Given the description of an element on the screen output the (x, y) to click on. 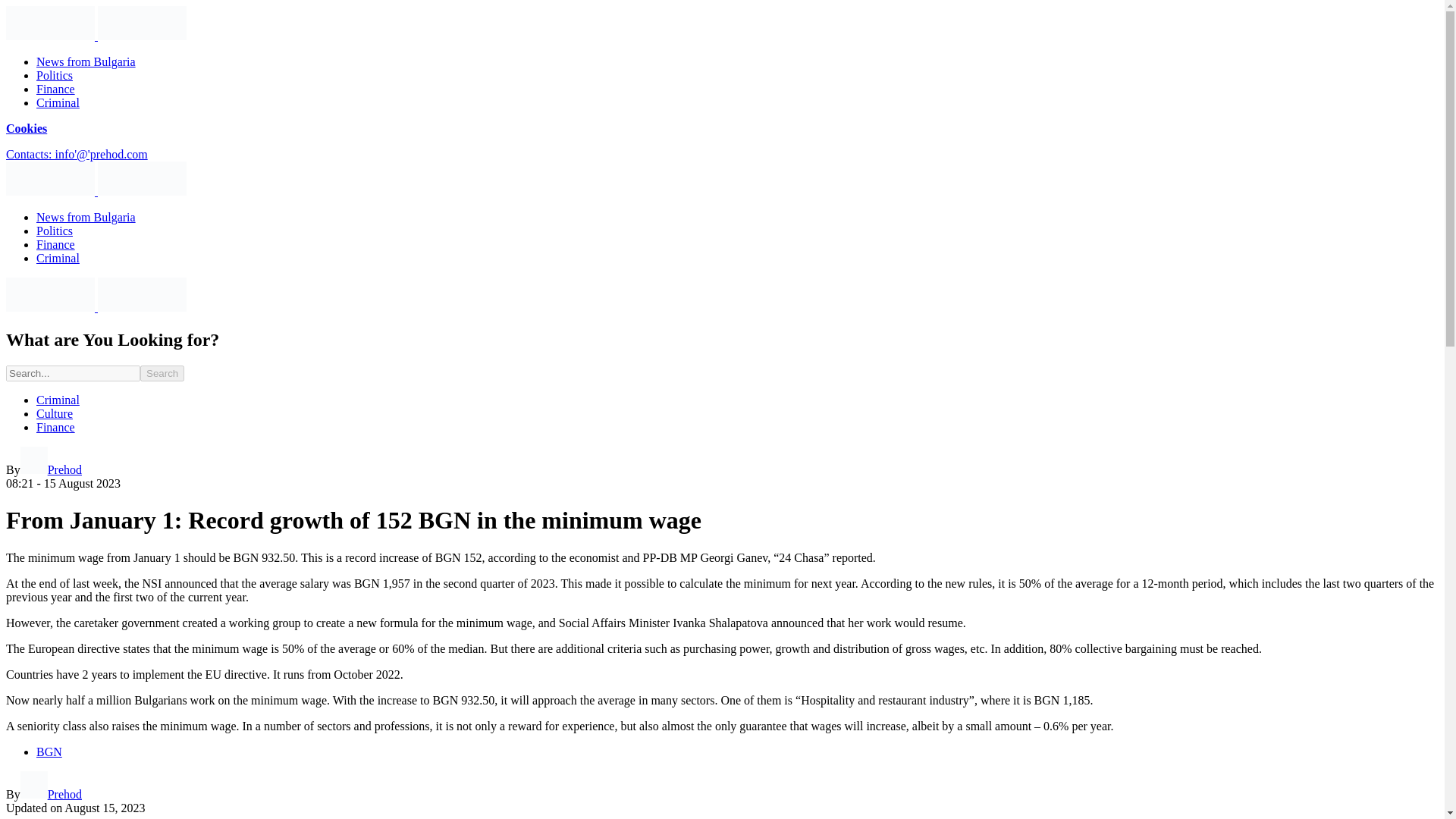
Criminal (58, 102)
Criminal (58, 399)
Cookies (25, 128)
Finance (55, 427)
Search (161, 373)
Culture (54, 413)
News from Bulgaria (85, 216)
BGN (49, 751)
Prehod (50, 469)
Finance (55, 88)
Prehod (50, 793)
Politics (54, 230)
Finance (55, 244)
Criminal (58, 257)
News from Bulgaria (85, 61)
